Given the description of an element on the screen output the (x, y) to click on. 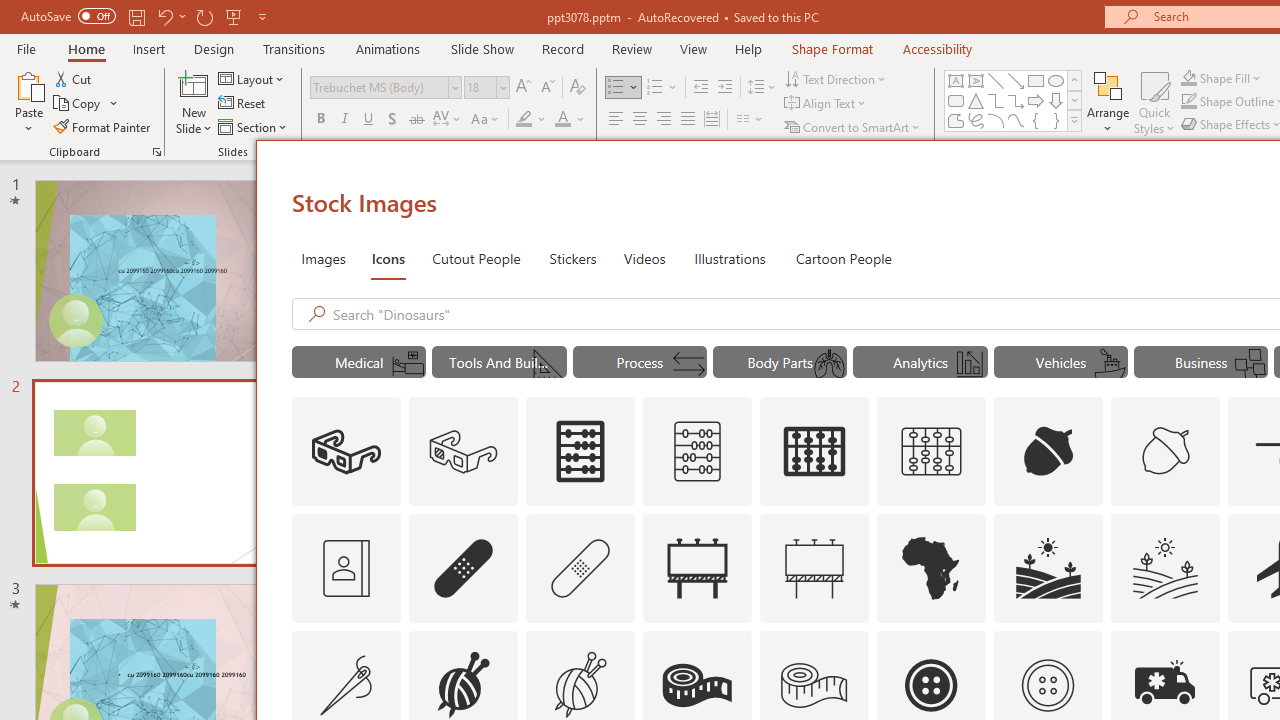
AutomationID: Icons_AdhesiveBandage_M (580, 568)
AutomationID: Icons_Acorn_M (1165, 452)
